Given the description of an element on the screen output the (x, y) to click on. 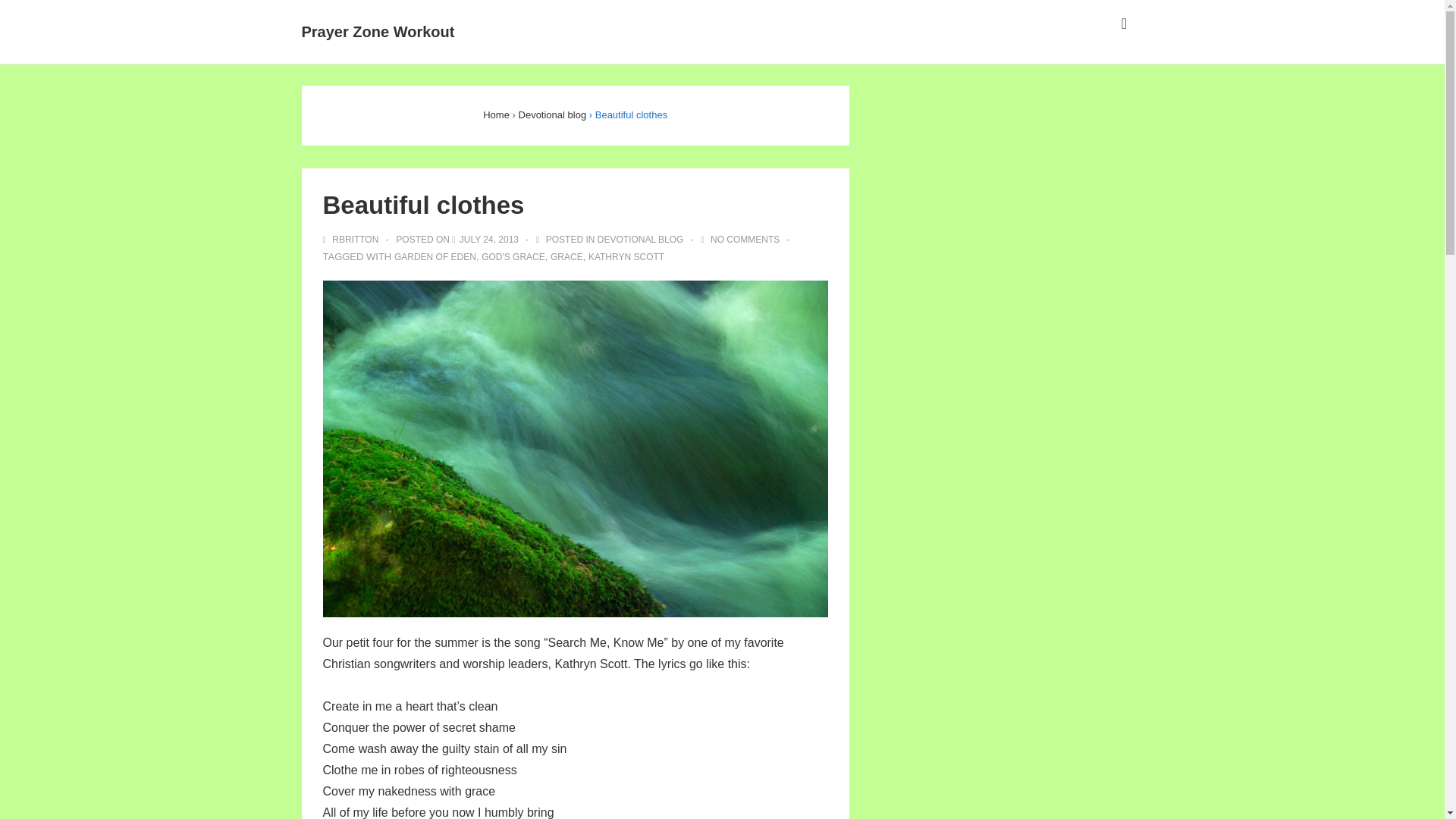
View all posts by rbritton (352, 239)
GOD'S GRACE (512, 256)
GRACE (566, 256)
Beautiful clothes (489, 239)
NO COMMENTS (744, 239)
JULY 24, 2013 (489, 239)
Prayer Zone Workout (377, 31)
Devotional blog (552, 114)
Home (496, 114)
MENU (1123, 23)
GARDEN OF EDEN (435, 256)
RBRITTON (352, 239)
KATHRYN SCOTT (625, 256)
DEVOTIONAL BLOG (640, 239)
